Given the description of an element on the screen output the (x, y) to click on. 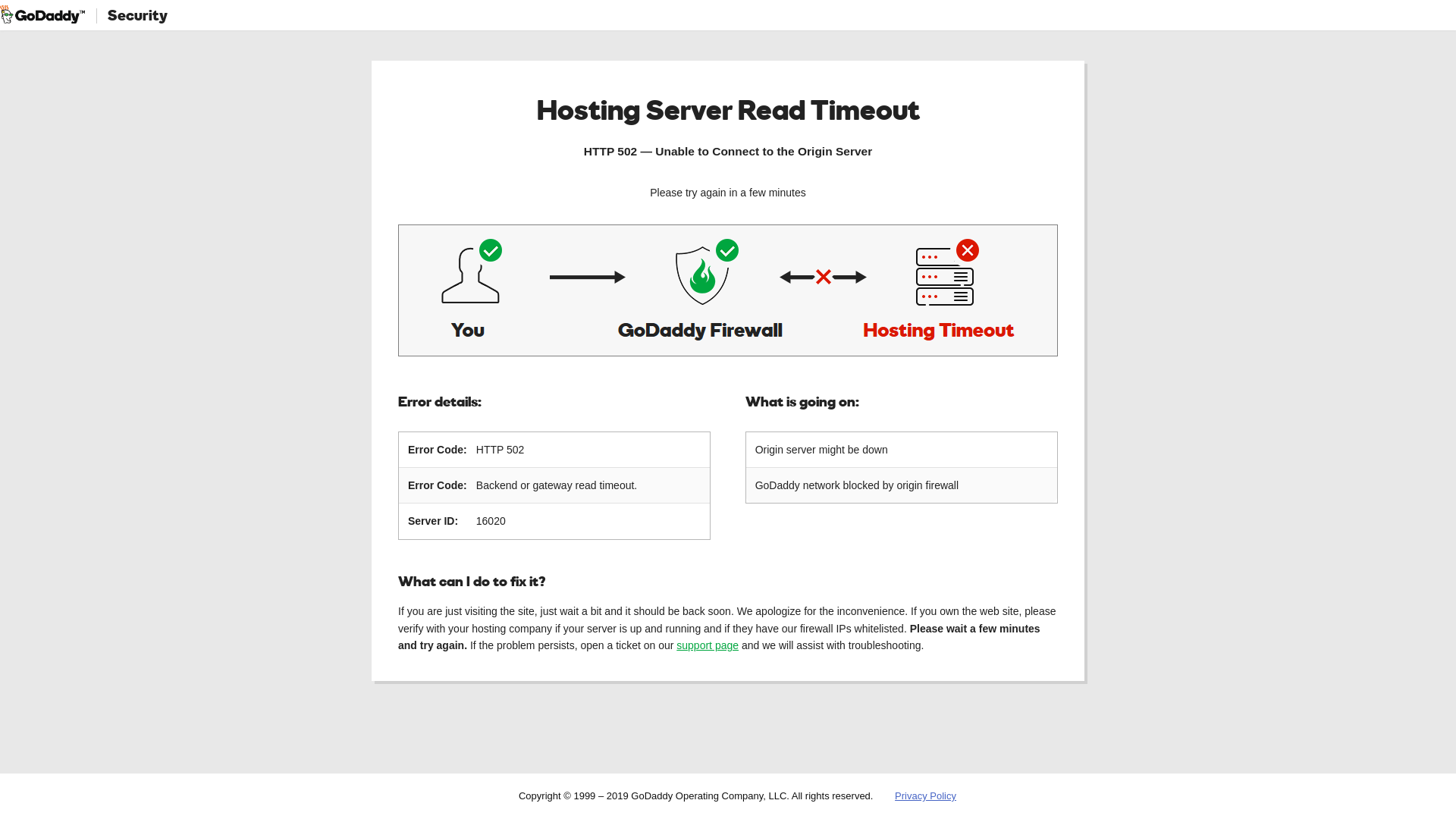
Privacy Policy Element type: text (925, 795)
support page Element type: text (707, 645)
